Given the description of an element on the screen output the (x, y) to click on. 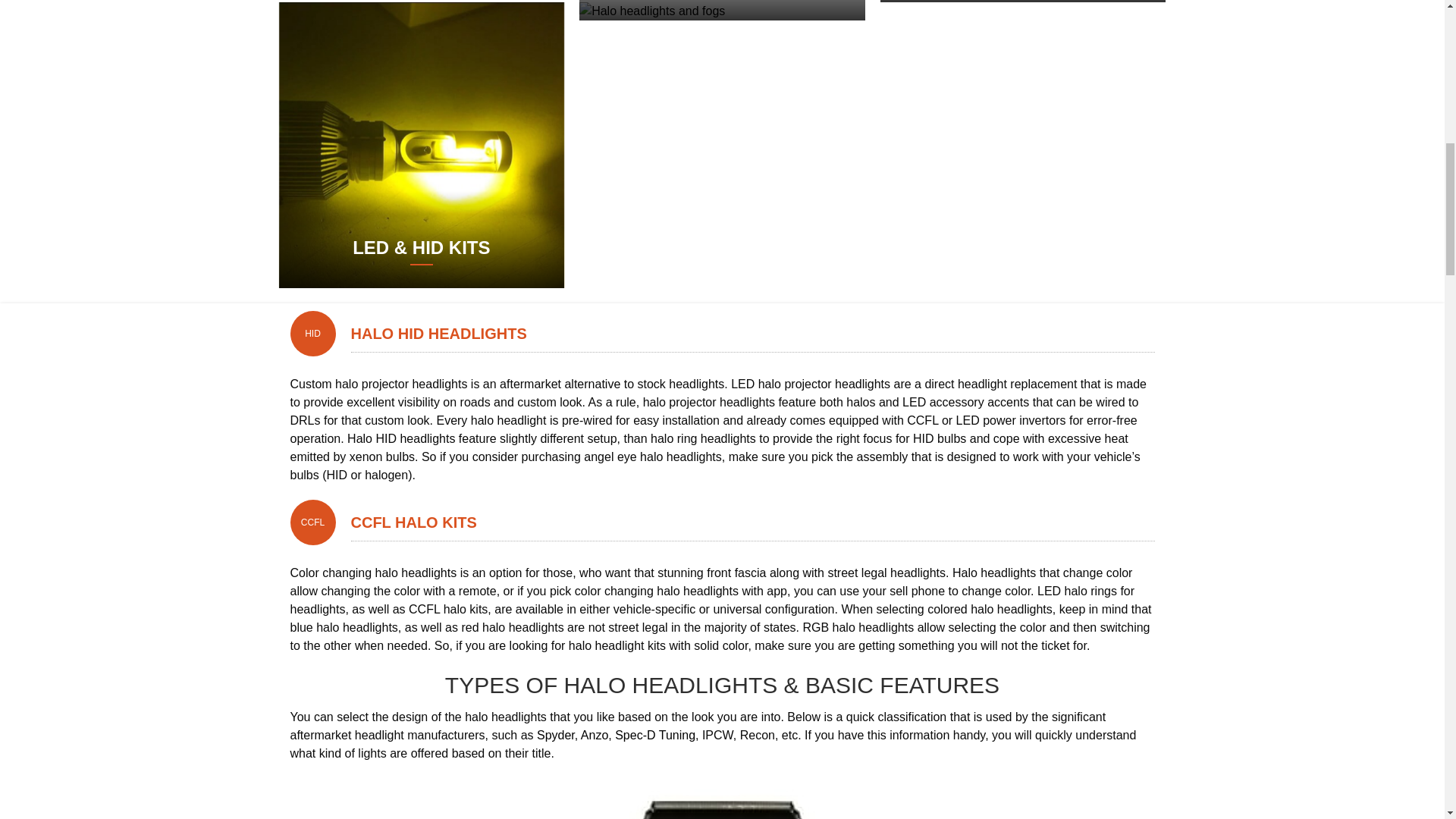
LED and HID kits (421, 145)
Halo headlights and fogs (721, 11)
